Given the description of an element on the screen output the (x, y) to click on. 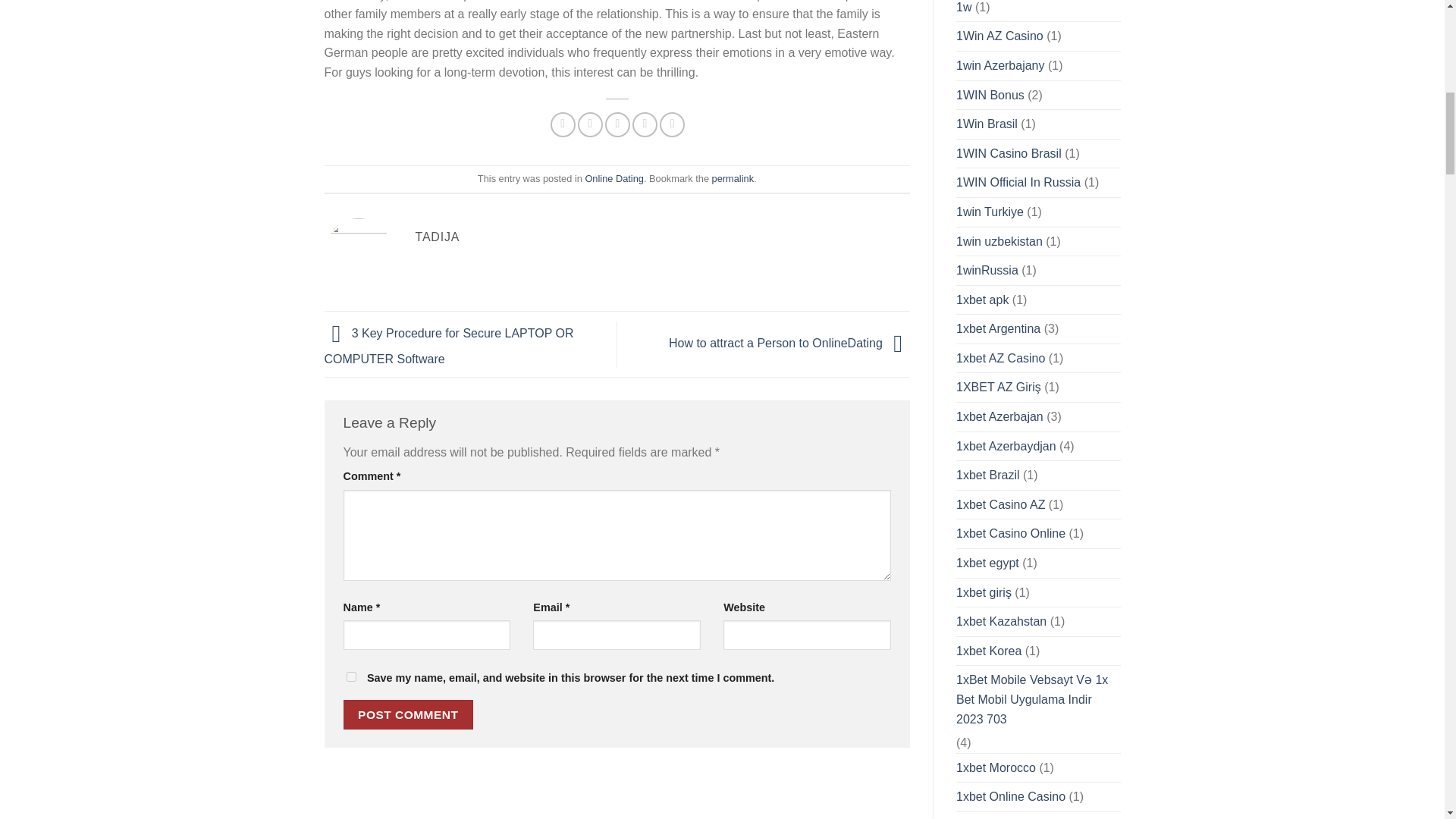
Post Comment (407, 714)
Share on Twitter (590, 124)
Pin on Pinterest (644, 124)
permalink (732, 178)
Permalink to Avoid Stereotypes When Meeting European Ladies (732, 178)
3 Key Procedure for Secure LAPTOP OR COMPUTER Software (448, 346)
yes (350, 676)
Share on LinkedIn (671, 124)
Share on Facebook (562, 124)
Email to a Friend (617, 124)
